Given the description of an element on the screen output the (x, y) to click on. 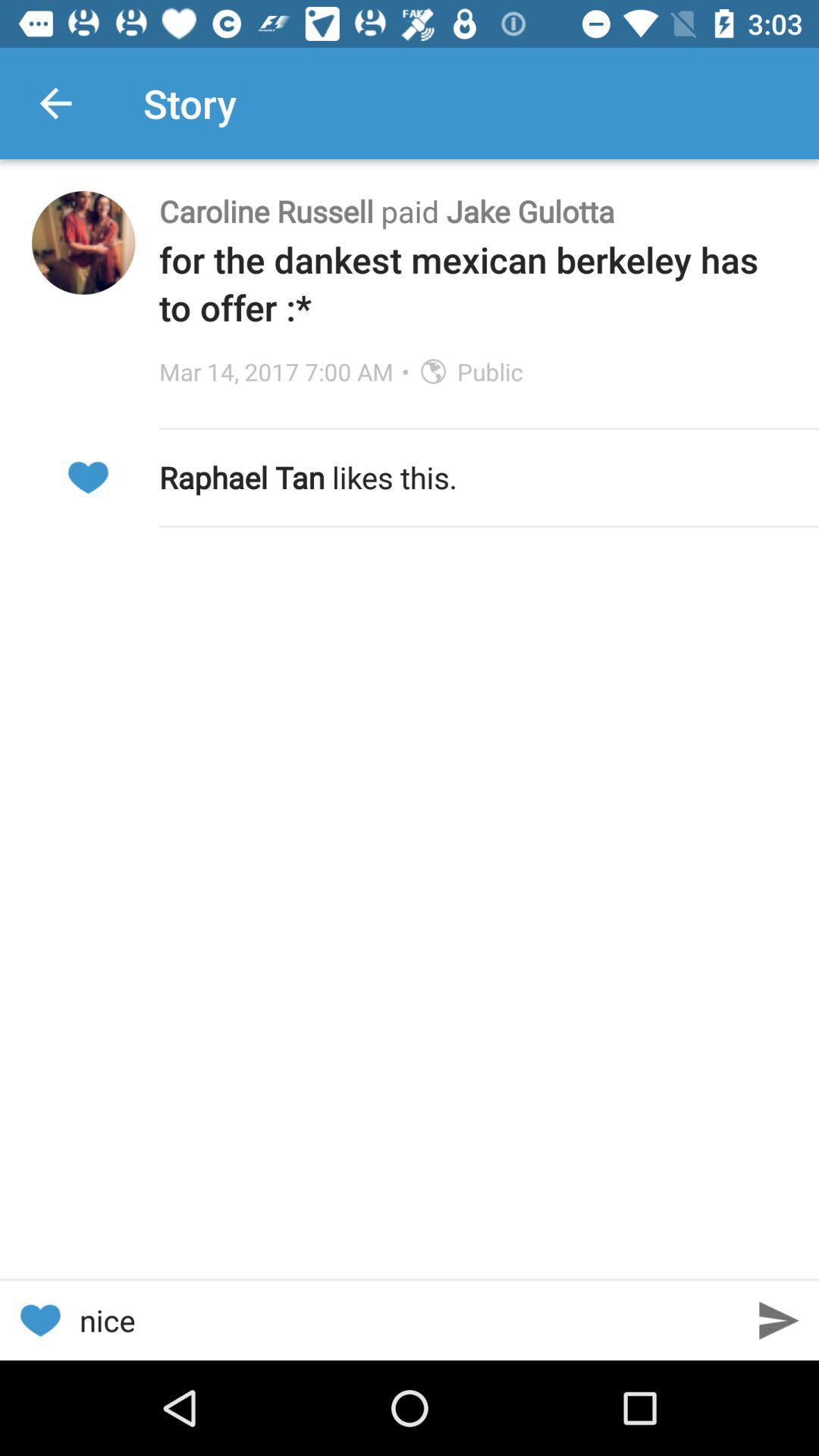
click item to the left of nice (39, 1320)
